Given the description of an element on the screen output the (x, y) to click on. 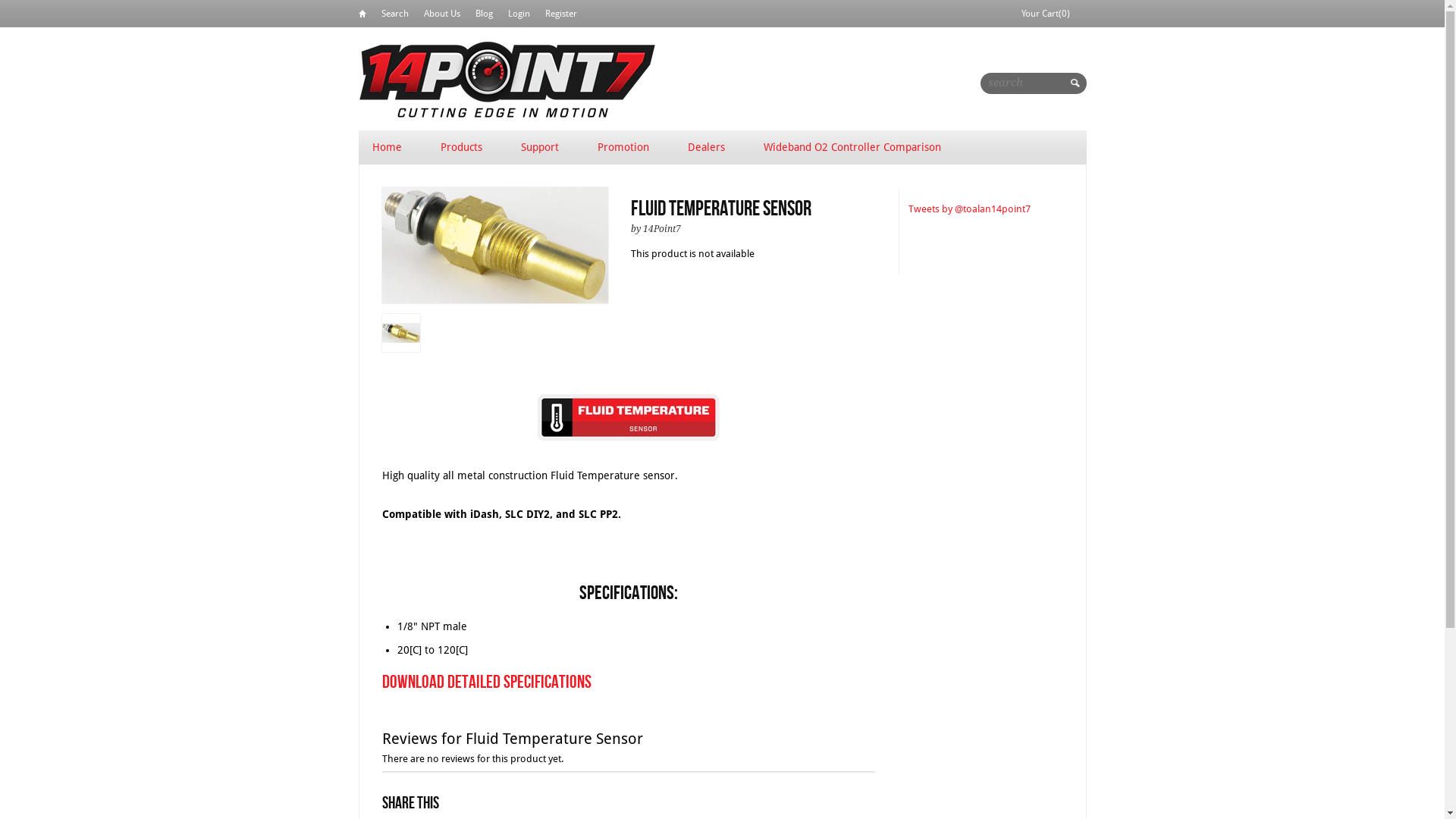
Dealers Element type: text (705, 146)
Home Element type: text (386, 146)
Register Element type: text (560, 13)
Support Element type: text (539, 146)
Search Element type: text (1076, 87)
Products Element type: text (460, 146)
14Point7 Element type: hover (506, 78)
Your Cart(0) Element type: text (1045, 13)
Promotion Element type: text (623, 146)
About Us Element type: text (441, 13)
Wideband O2 Controller Comparison Element type: text (851, 146)
Login Element type: text (519, 13)
Tweets by @toalan14point7 Element type: text (969, 208)
Home Element type: text (361, 15)
Download Detailed Specifications Element type: text (486, 682)
Search Element type: text (393, 13)
Blog Element type: text (483, 13)
